Given the description of an element on the screen output the (x, y) to click on. 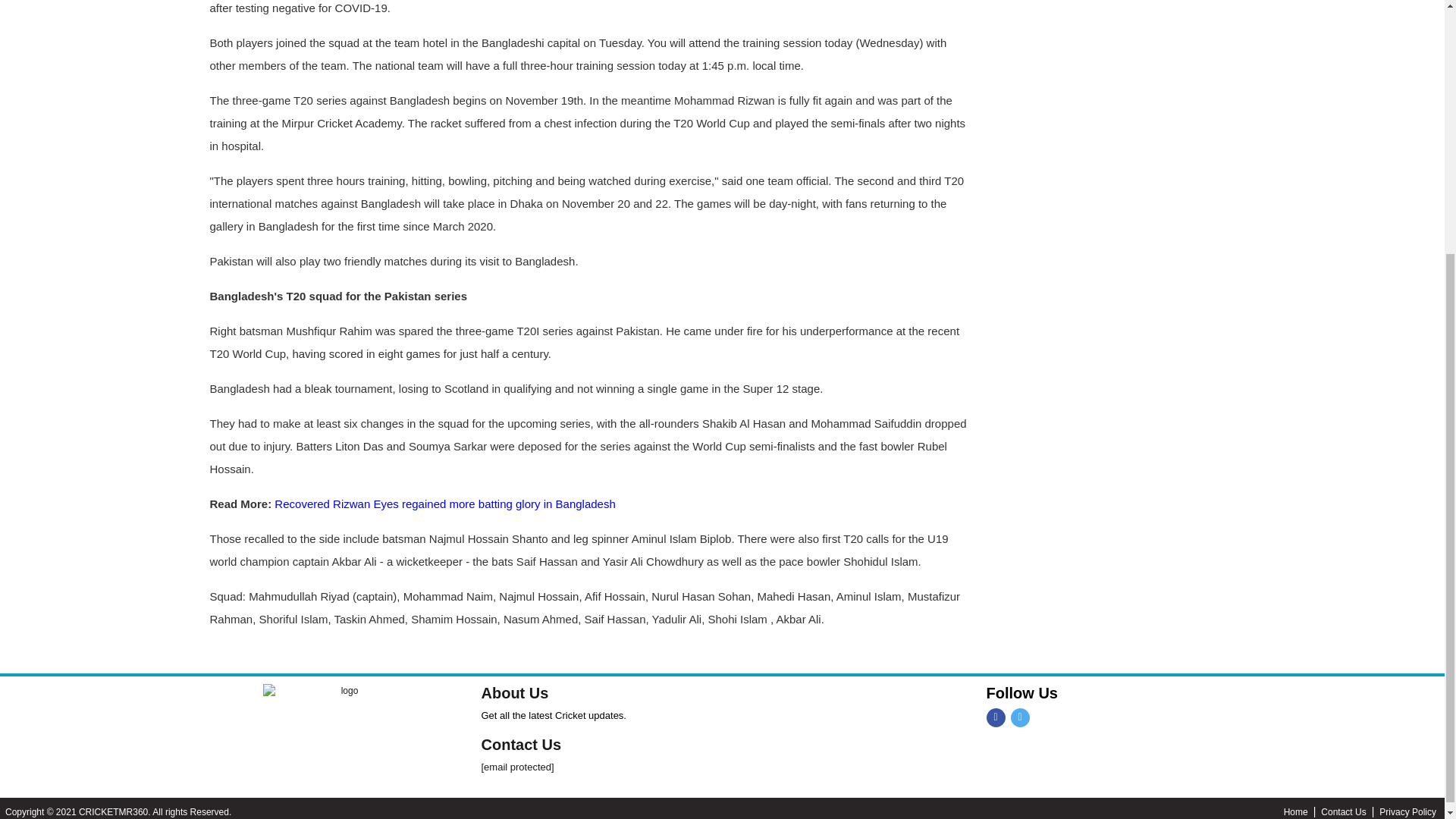
About Us (514, 692)
Twitter (1019, 717)
Contact Us (1349, 811)
Home (1303, 811)
Contact Us (520, 744)
Facebook (994, 717)
